Given the description of an element on the screen output the (x, y) to click on. 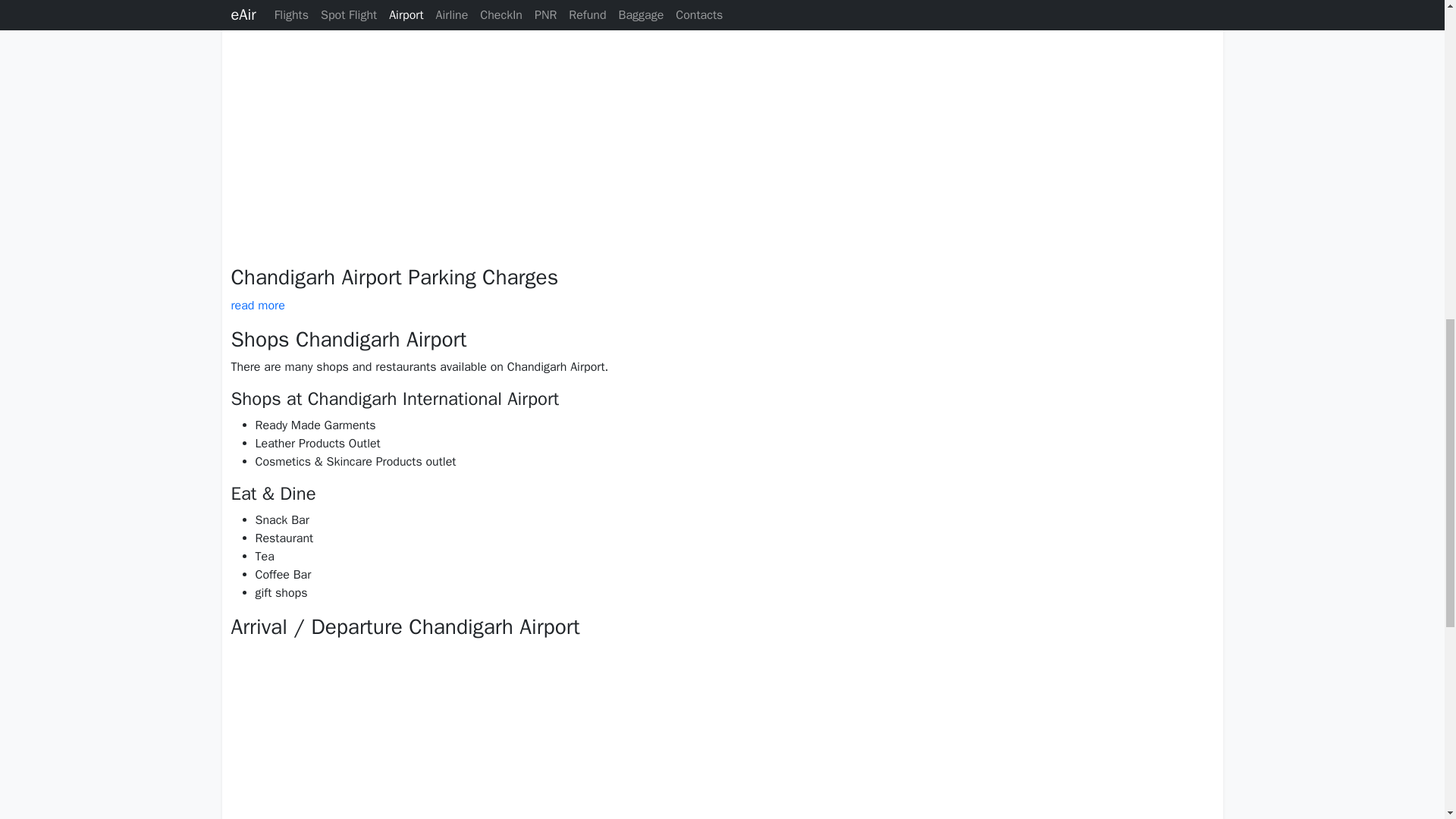
read more (256, 305)
Chandigarh Airport Parking Charges (393, 276)
